Given the description of an element on the screen output the (x, y) to click on. 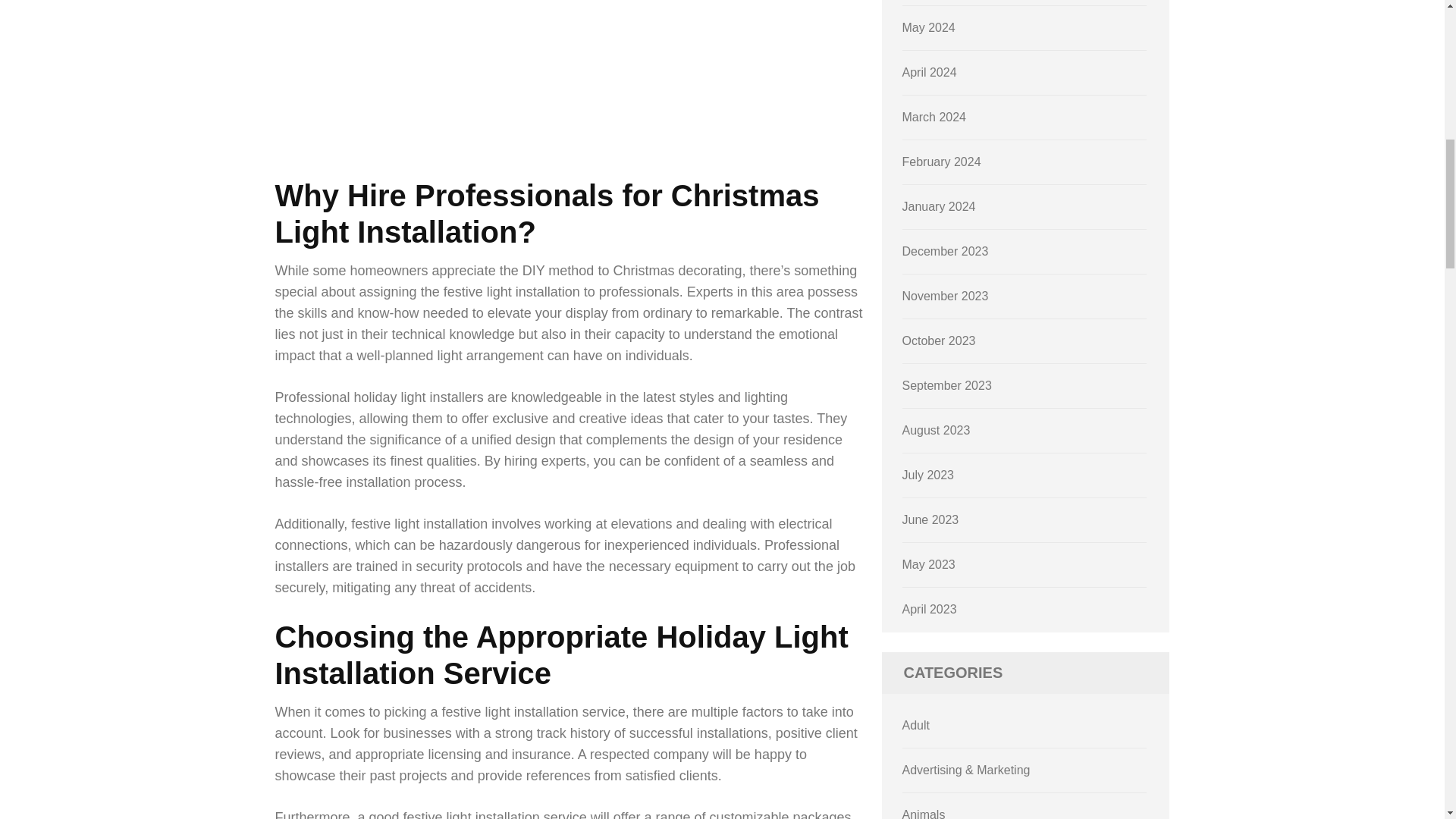
December 2023 (945, 250)
June 2023 (930, 519)
July 2023 (928, 474)
May 2023 (928, 563)
January 2024 (938, 205)
February 2024 (941, 161)
April 2024 (929, 72)
November 2023 (945, 295)
October 2023 (938, 340)
September 2023 (946, 385)
